Given the description of an element on the screen output the (x, y) to click on. 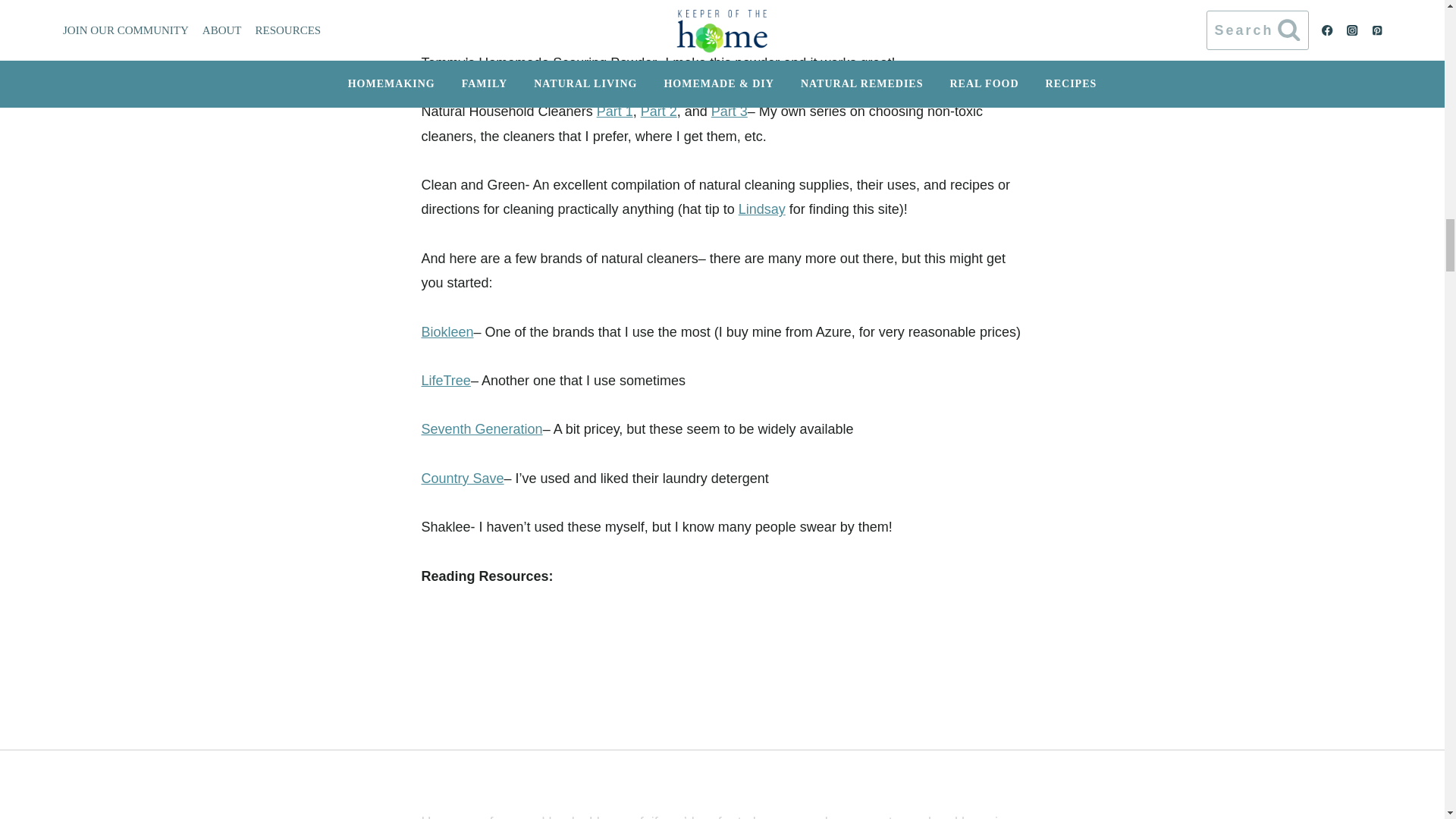
Part 3 (729, 111)
Seventh Generation (482, 428)
Country Save (462, 478)
LifeTree (446, 380)
Part 1 (614, 111)
Lindsay (762, 209)
Part 2 (658, 111)
Biokleen (448, 331)
